Given the description of an element on the screen output the (x, y) to click on. 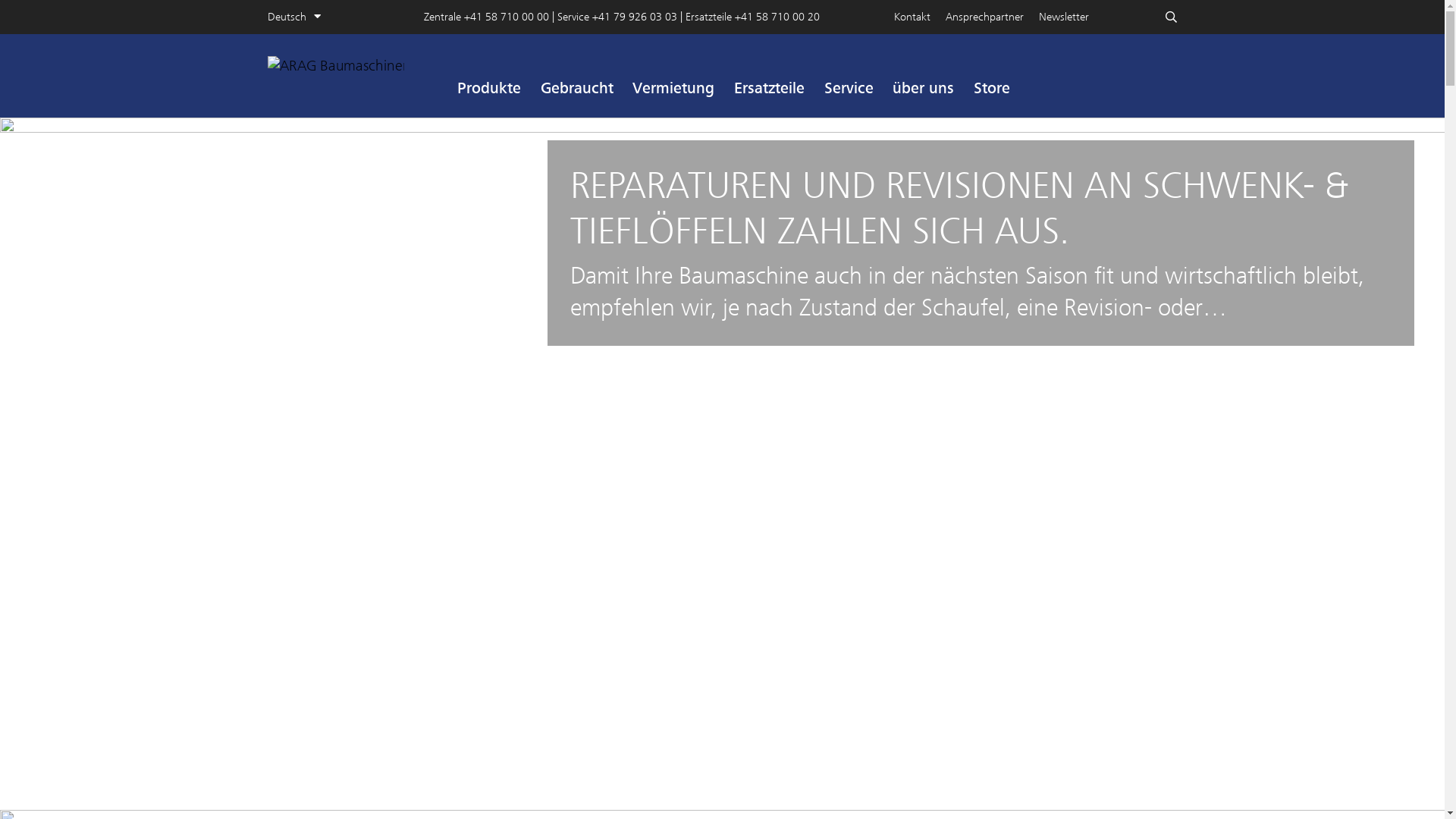
Ersatzteile Element type: text (769, 87)
Service +41 79 926 03 03 Element type: text (618, 16)
Zentrale +41 58 710 00 00 Element type: text (487, 16)
Newsletter Element type: text (1071, 16)
Produkte Element type: text (488, 87)
Service Element type: text (848, 87)
Vermietung Element type: text (673, 87)
Store Element type: text (991, 87)
Ersatzteile +41 58 710 00 20 Element type: text (752, 16)
Gebraucht Element type: text (576, 87)
Ansprechpartner Element type: text (991, 16)
Kontakt Element type: text (919, 16)
